Given the description of an element on the screen output the (x, y) to click on. 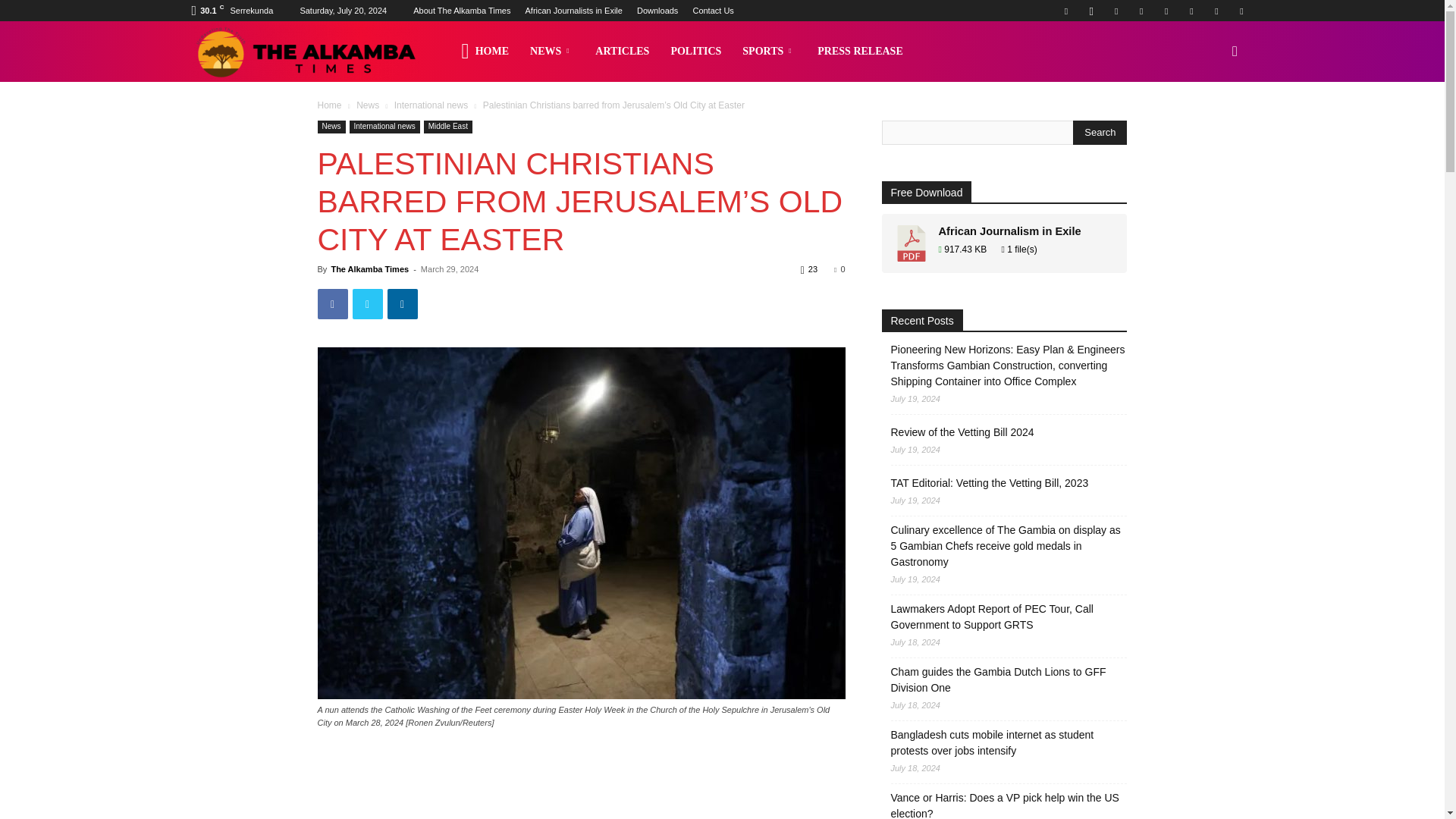
Instagram (1091, 10)
Contact Us (713, 10)
Soundcloud (1165, 10)
Downloads (657, 10)
Mail (1141, 10)
African Journalists in Exile (572, 10)
Linkedin (1115, 10)
Facebook (1065, 10)
Search (1099, 132)
About The Alkamba Times (462, 10)
